Given the description of an element on the screen output the (x, y) to click on. 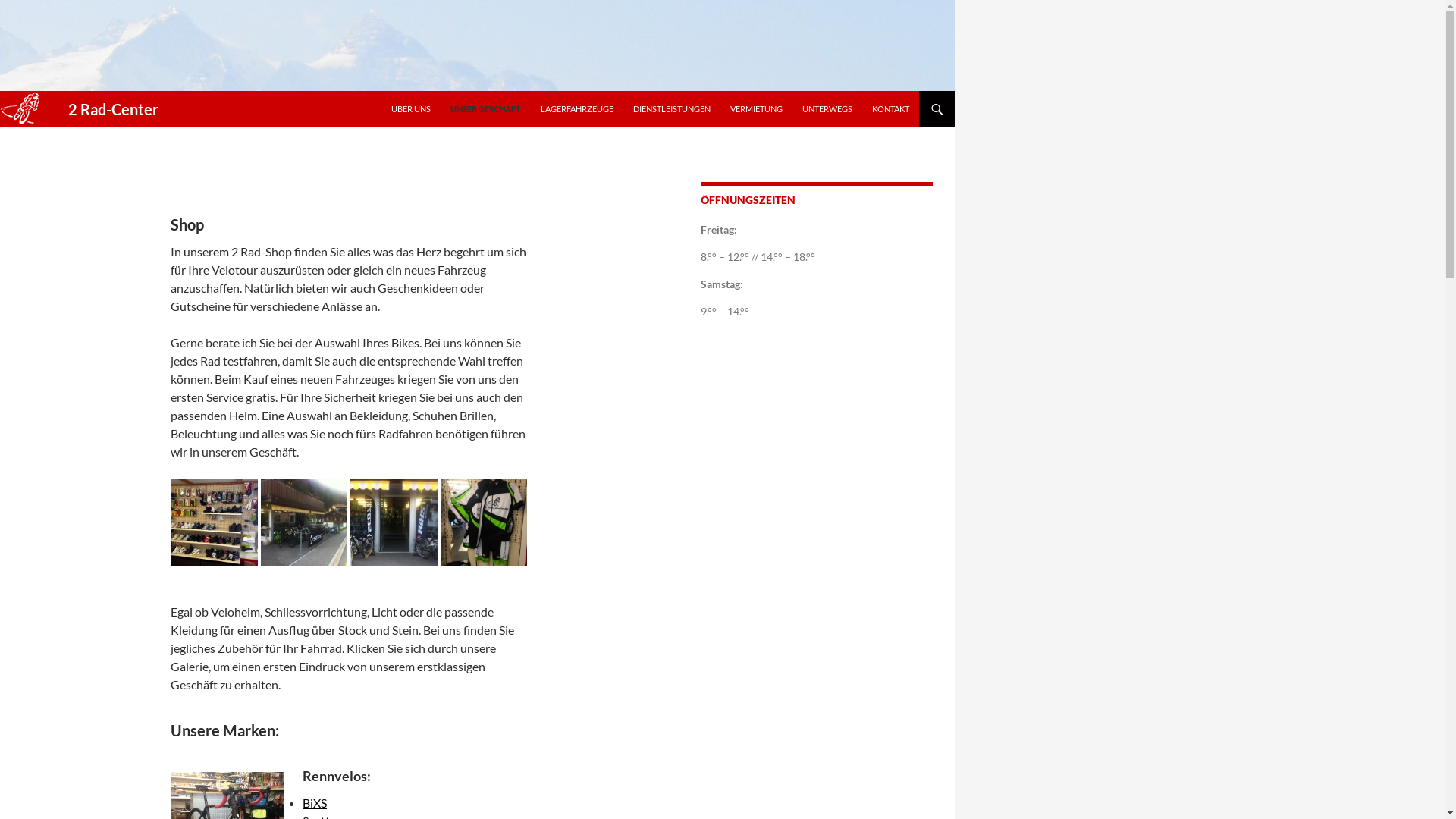
DIENSTLEISTUNGEN Element type: text (671, 109)
2 Rad-Center Element type: text (101, 109)
UNTERWEGS Element type: text (827, 109)
KONTAKT Element type: text (890, 109)
Suchen Element type: text (3, 90)
LAGERFAHRZEUGE Element type: text (576, 109)
BiXS Element type: text (314, 801)
VERMIETUNG Element type: text (756, 109)
ZUM INHALT SPRINGEN Element type: text (390, 90)
